Given the description of an element on the screen output the (x, y) to click on. 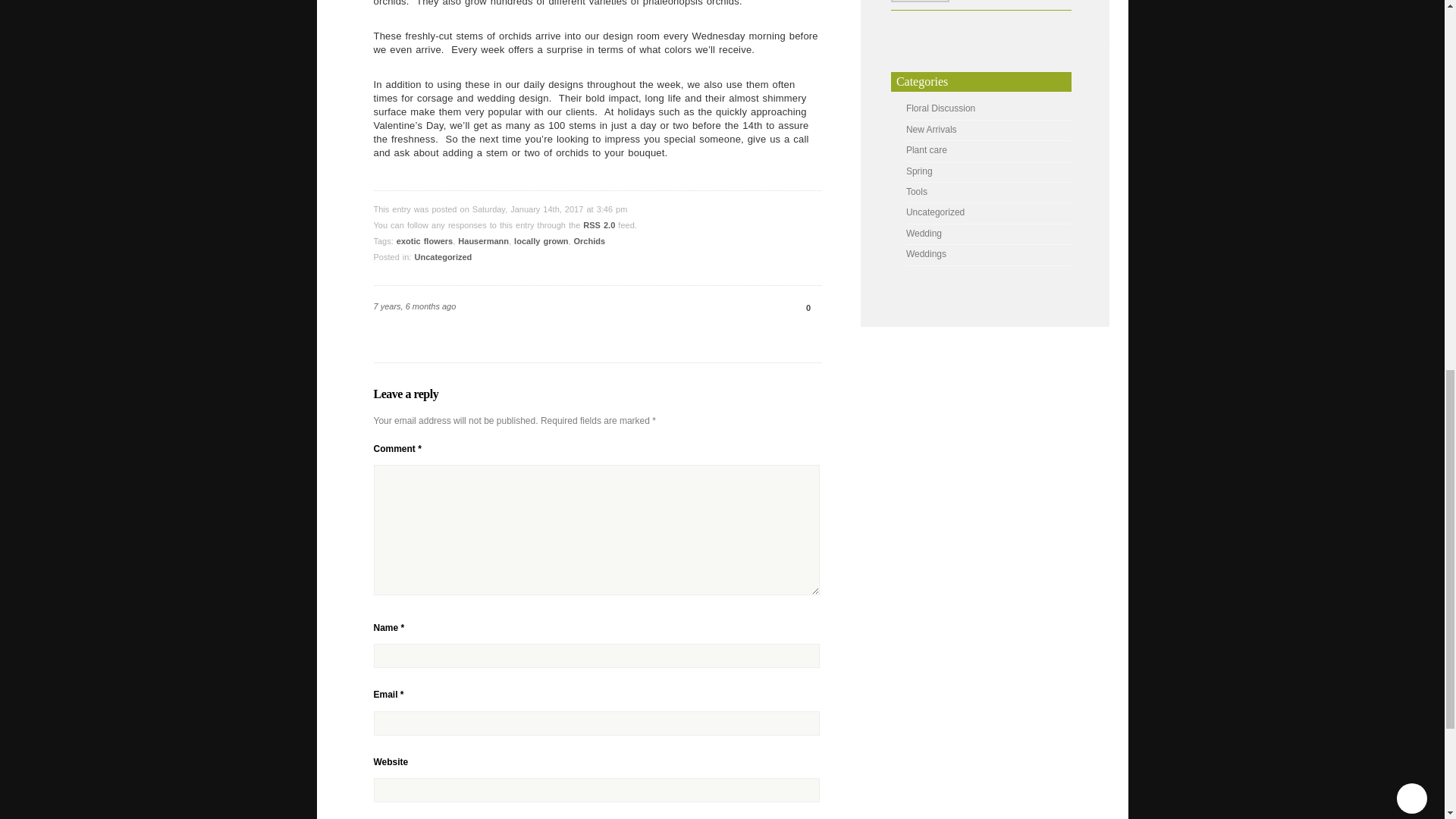
RSS 2.0 (598, 225)
Uncategorized (442, 256)
Orchids (589, 240)
locally grown (540, 240)
exotic flowers (424, 240)
Hausermann (483, 240)
7 years, 6 months ago (413, 306)
0 (802, 307)
